Given the description of an element on the screen output the (x, y) to click on. 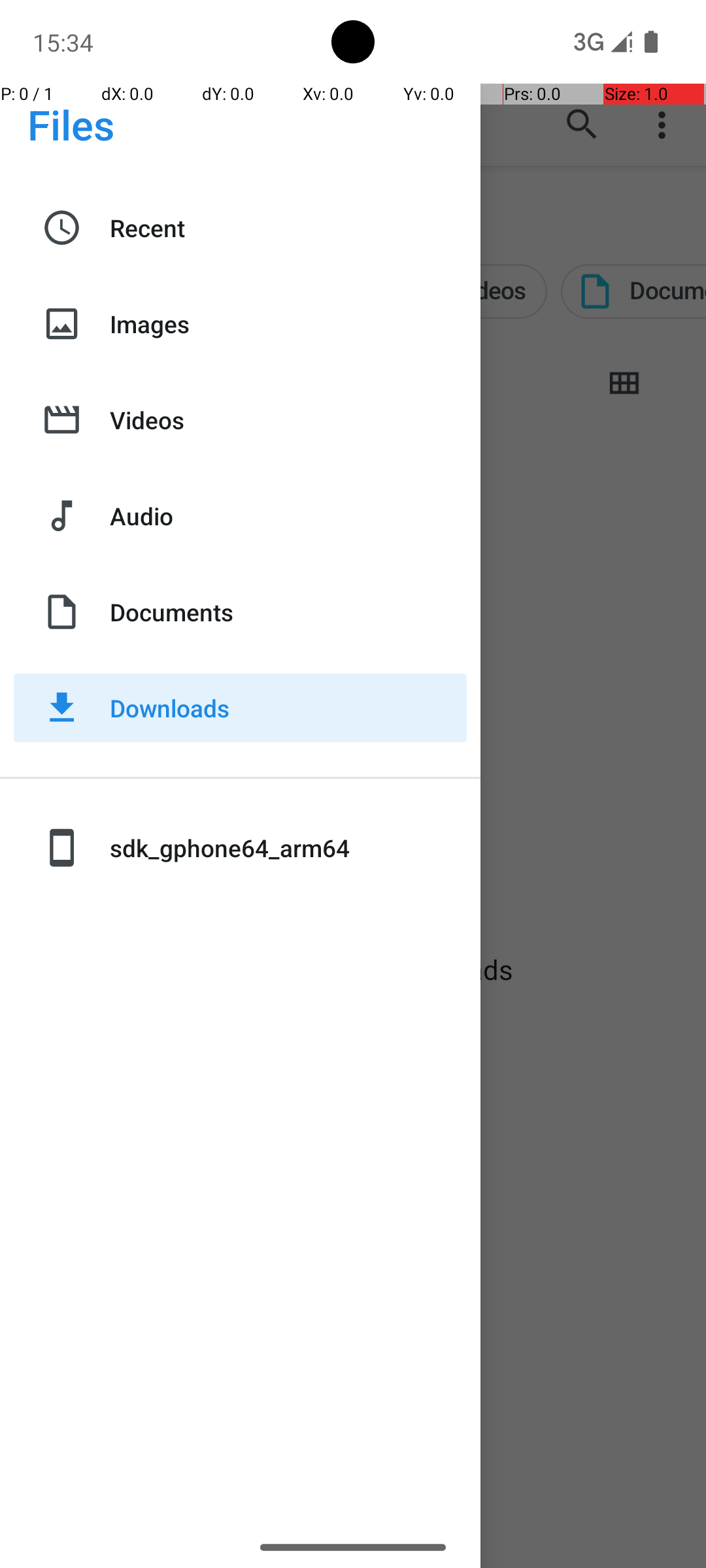
Files Element type: android.widget.TextView (70, 124)
sdk_gphone64_arm64 Element type: android.widget.TextView (287, 847)
